Given the description of an element on the screen output the (x, y) to click on. 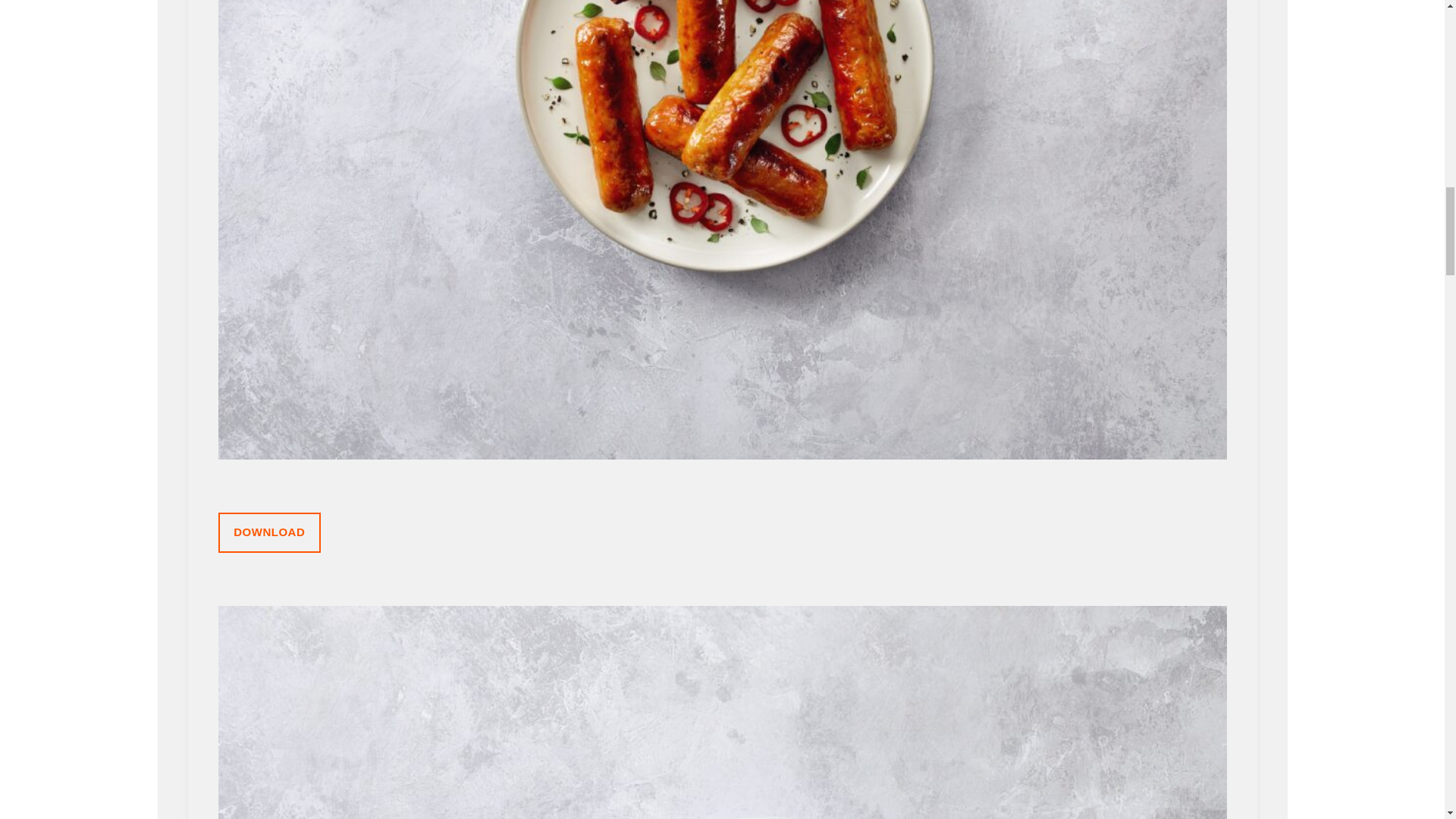
DOWNLOAD (269, 532)
